Given the description of an element on the screen output the (x, y) to click on. 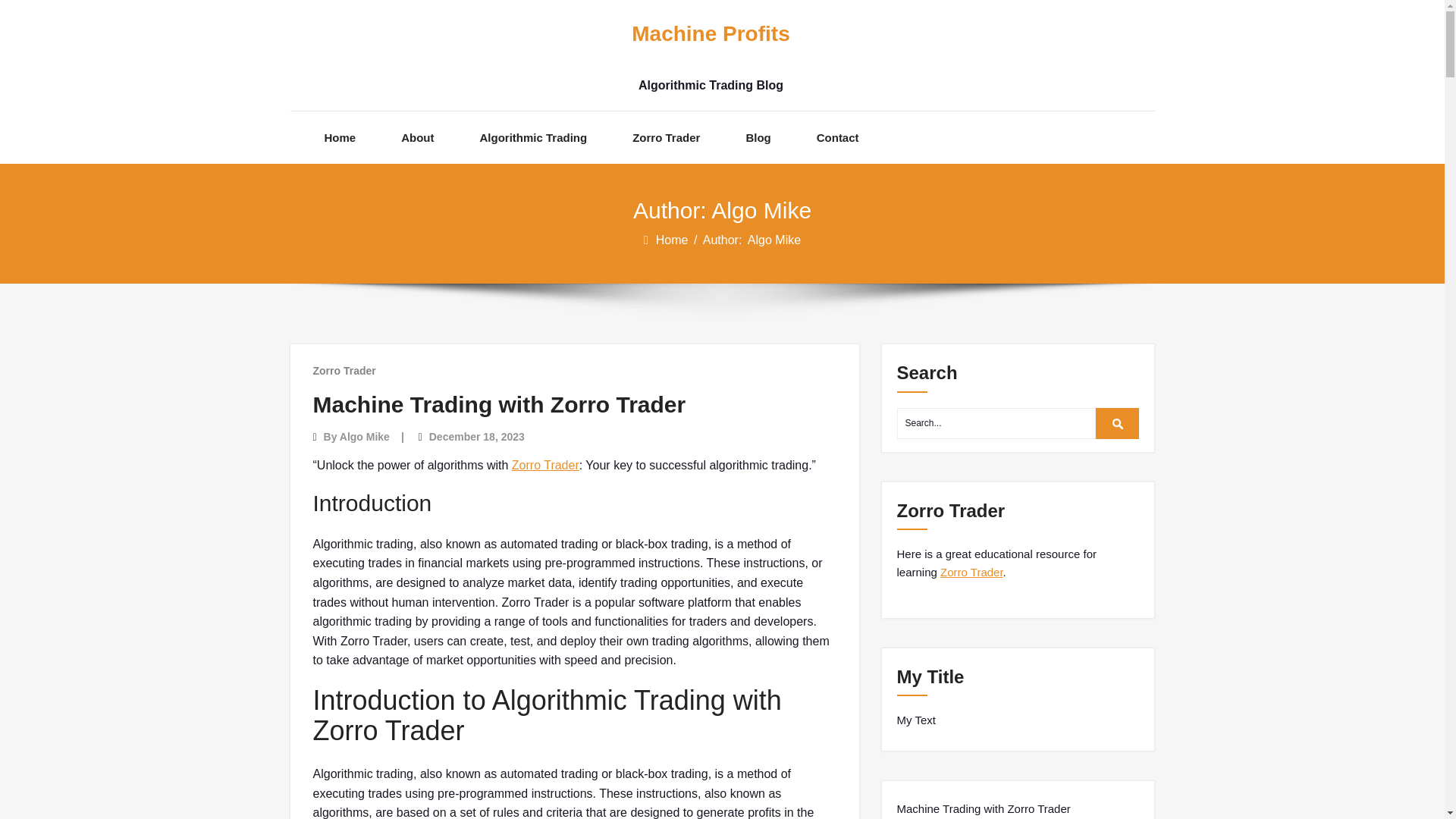
Algo Mike (364, 436)
Machine Profits (710, 34)
Search (1118, 422)
Zorro Trader (545, 464)
Home (673, 239)
Algorithmic Trading (534, 137)
Zorro Trader (971, 571)
Zorro Trader (344, 370)
December 18, 2023 (476, 436)
Zorro Trader (665, 137)
Machine Trading with Zorro Trader (499, 404)
Search (1118, 422)
Machine Trading with Zorro Trader (983, 809)
